Given the description of an element on the screen output the (x, y) to click on. 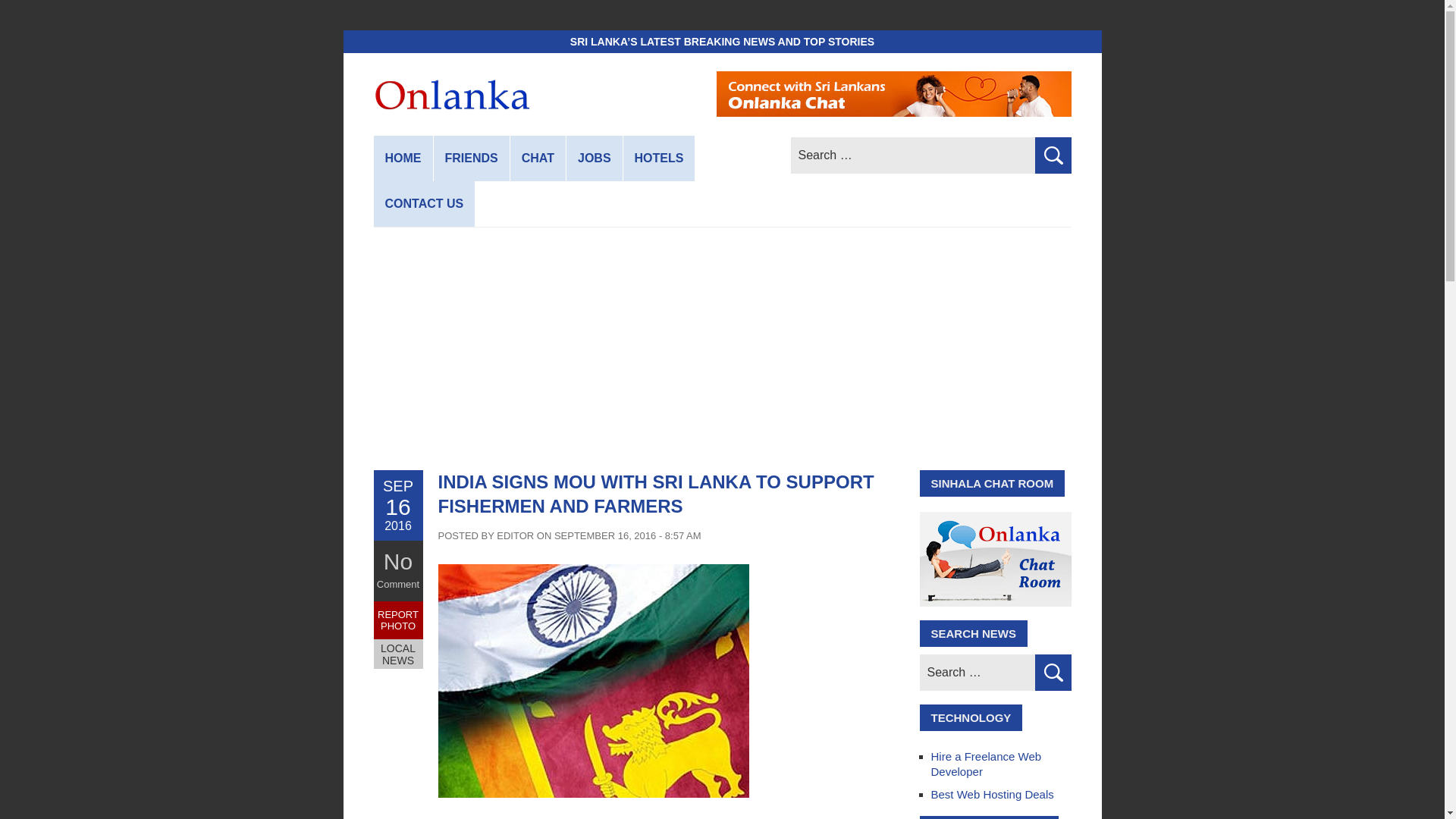
Hire a Freelance Web Developer (986, 764)
FRIENDS (471, 157)
Search (1051, 155)
Best Web Hosting Deals (992, 793)
Contact Onlanka website (423, 203)
Search (1051, 672)
Search (1051, 155)
Sri Lanka chat (538, 157)
No (397, 560)
Home page (402, 157)
LOCAL NEWS (397, 654)
Work From Home Jobs for Freelance Workers (594, 157)
Search (1051, 155)
Comment (397, 583)
